Given the description of an element on the screen output the (x, y) to click on. 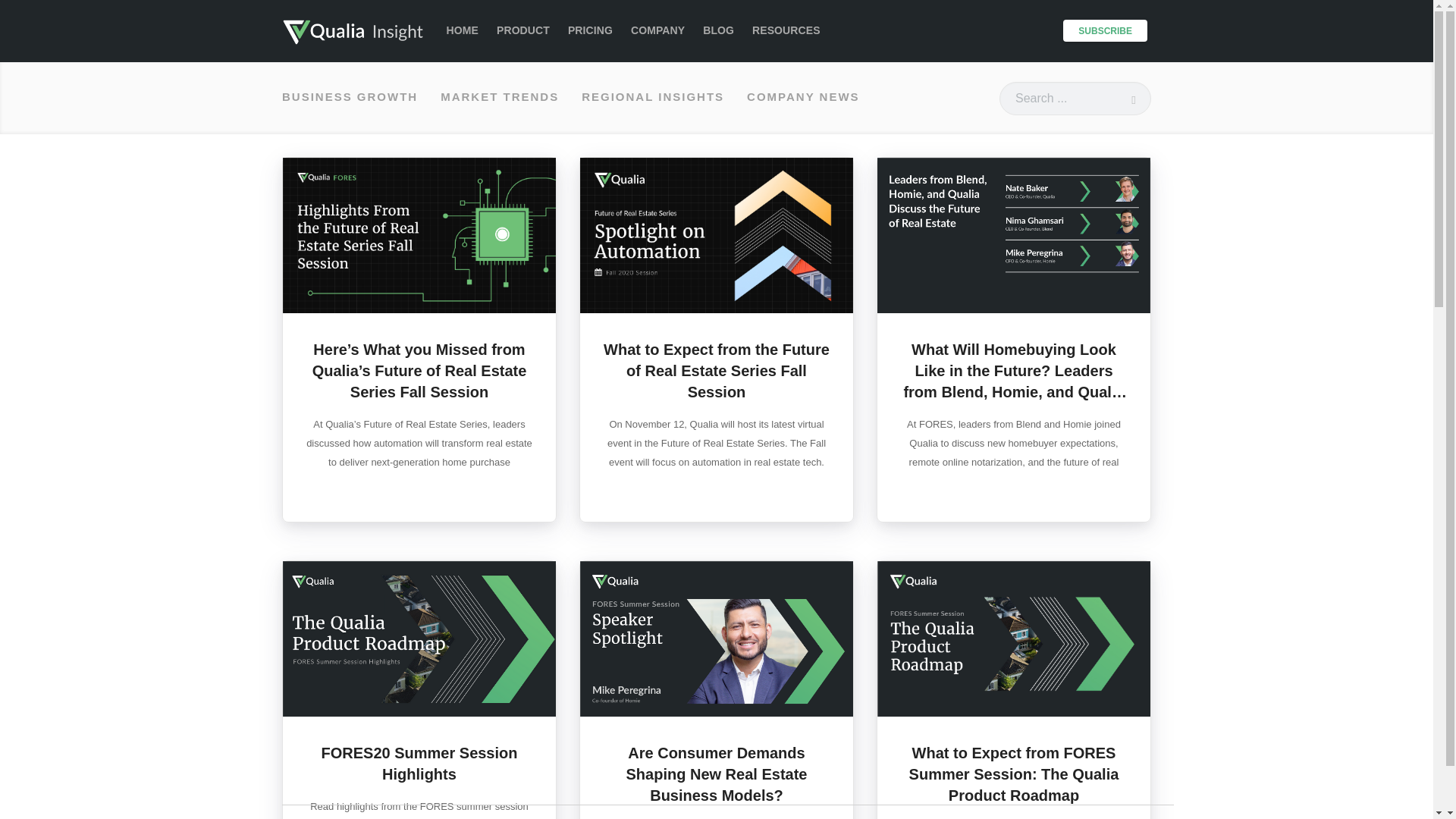
COMPANY NEWS (802, 96)
FORES20 Summer Session Highlights (419, 763)
HOME (462, 30)
RESOURCES (785, 30)
COMPANY (657, 30)
BLOG (718, 30)
PRICING (590, 30)
BUSINESS GROWTH (350, 96)
REGIONAL INSIGHTS (652, 96)
PRODUCT (523, 30)
SUBSCRIBE (1104, 30)
MARKET TRENDS (499, 96)
